Given the description of an element on the screen output the (x, y) to click on. 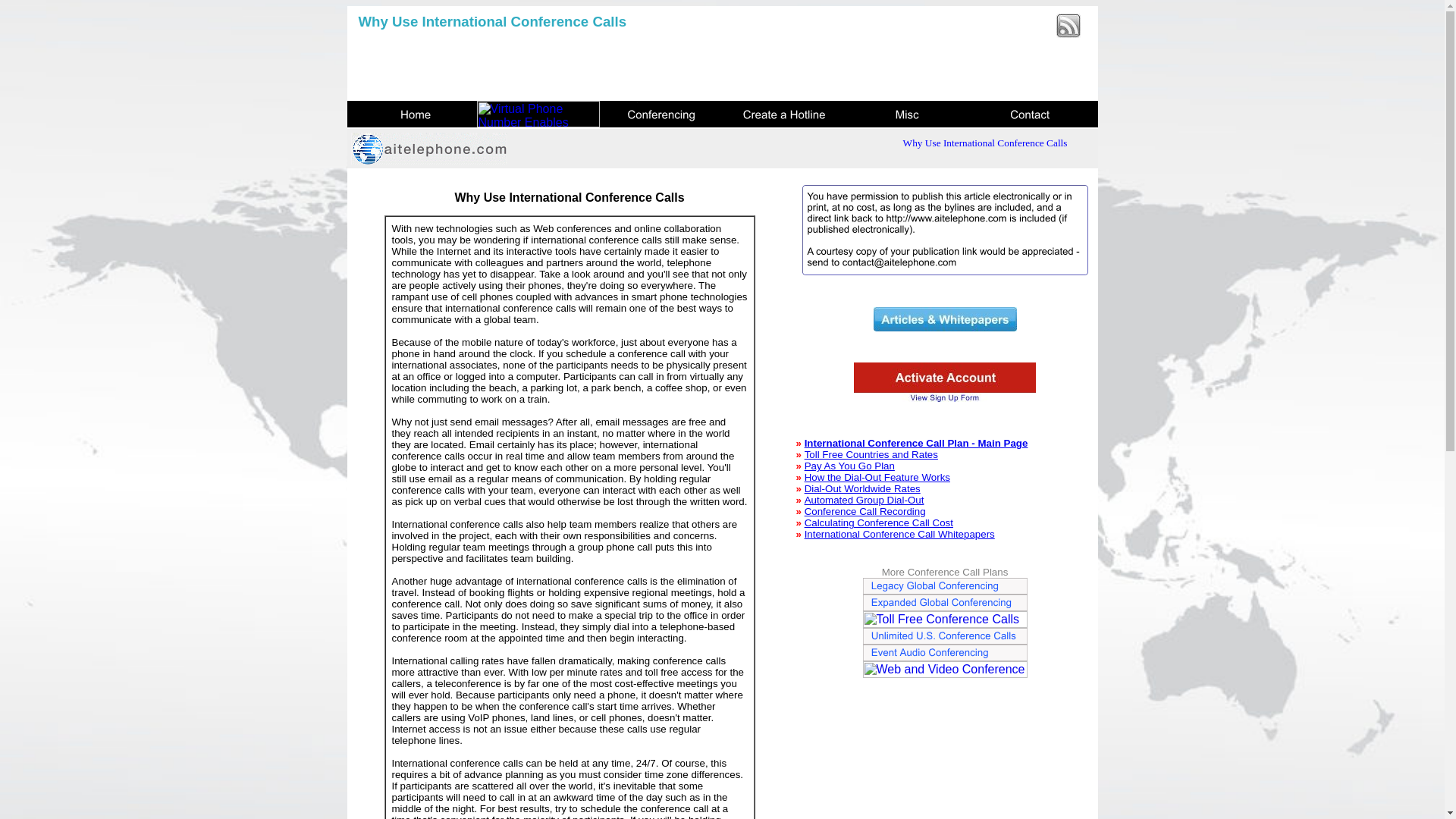
Automated Group Dial-Out (864, 500)
International Conference Call Whitepapers (899, 533)
Conference Call Recording (865, 511)
Dial-Out Worldwide Rates (862, 488)
International Conference Call Plan - Main Page (916, 442)
Calculating Conference Call Cost (879, 522)
How the Dial-Out Feature Works (877, 477)
Toll Free Countries and Rates (871, 454)
Pay As You Go Plan (850, 465)
